Given the description of an element on the screen output the (x, y) to click on. 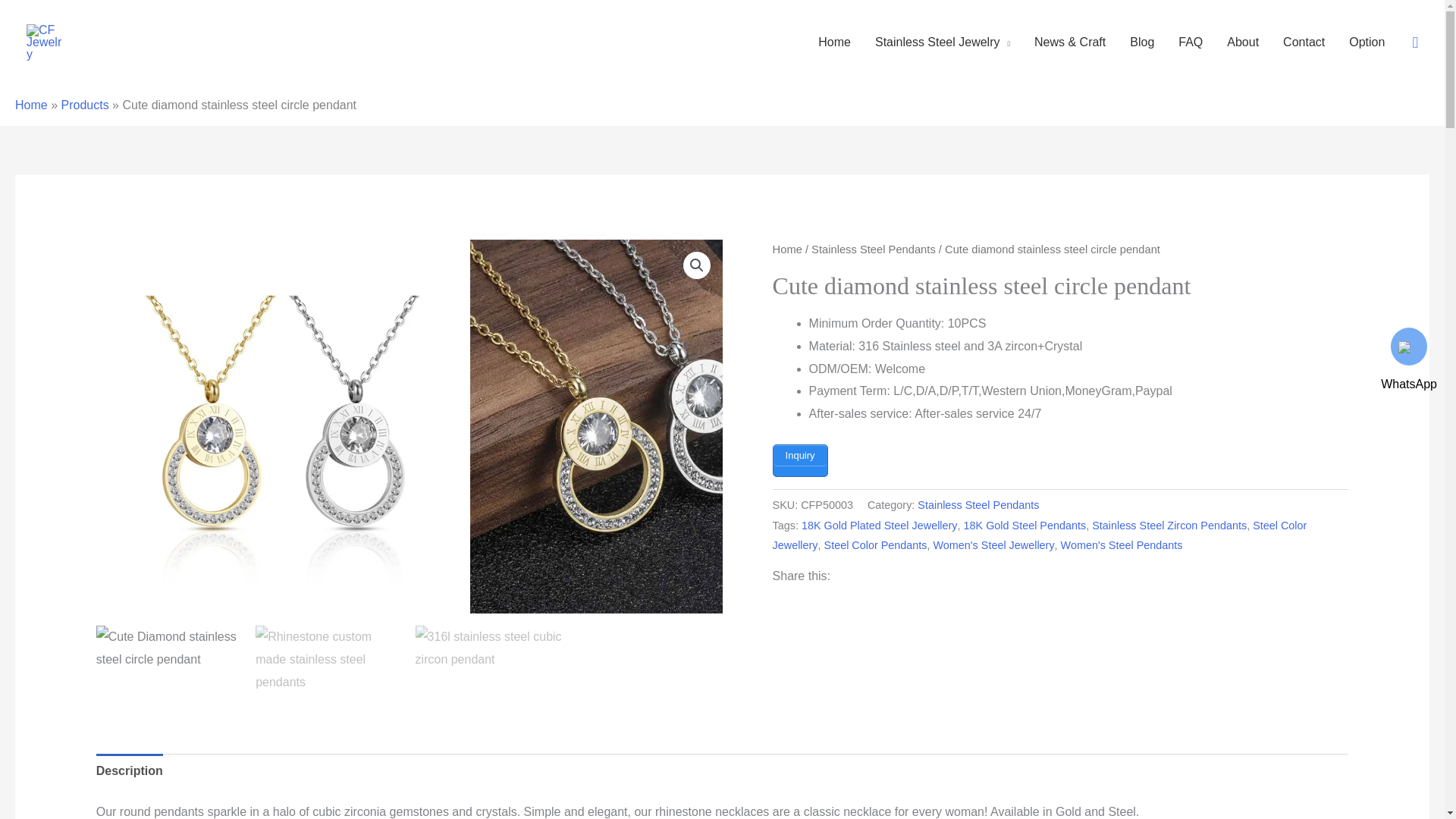
FAQ (1190, 41)
About (1242, 41)
Option (1366, 41)
Home (834, 41)
Contact (1303, 41)
Blog (1142, 41)
Stainless Steel Jewelry (942, 41)
